Given the description of an element on the screen output the (x, y) to click on. 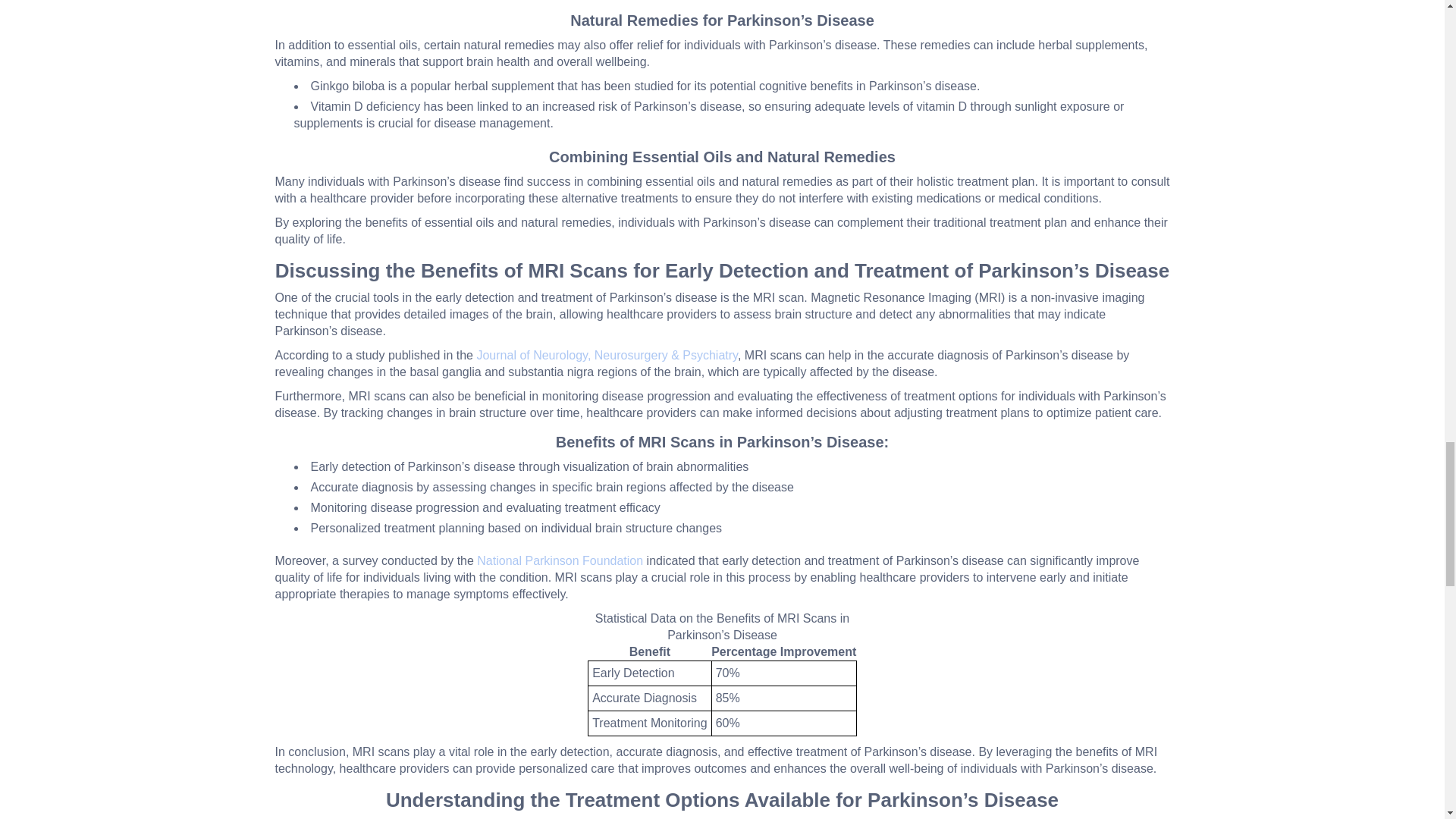
National Parkinson Foundation (560, 560)
